Given the description of an element on the screen output the (x, y) to click on. 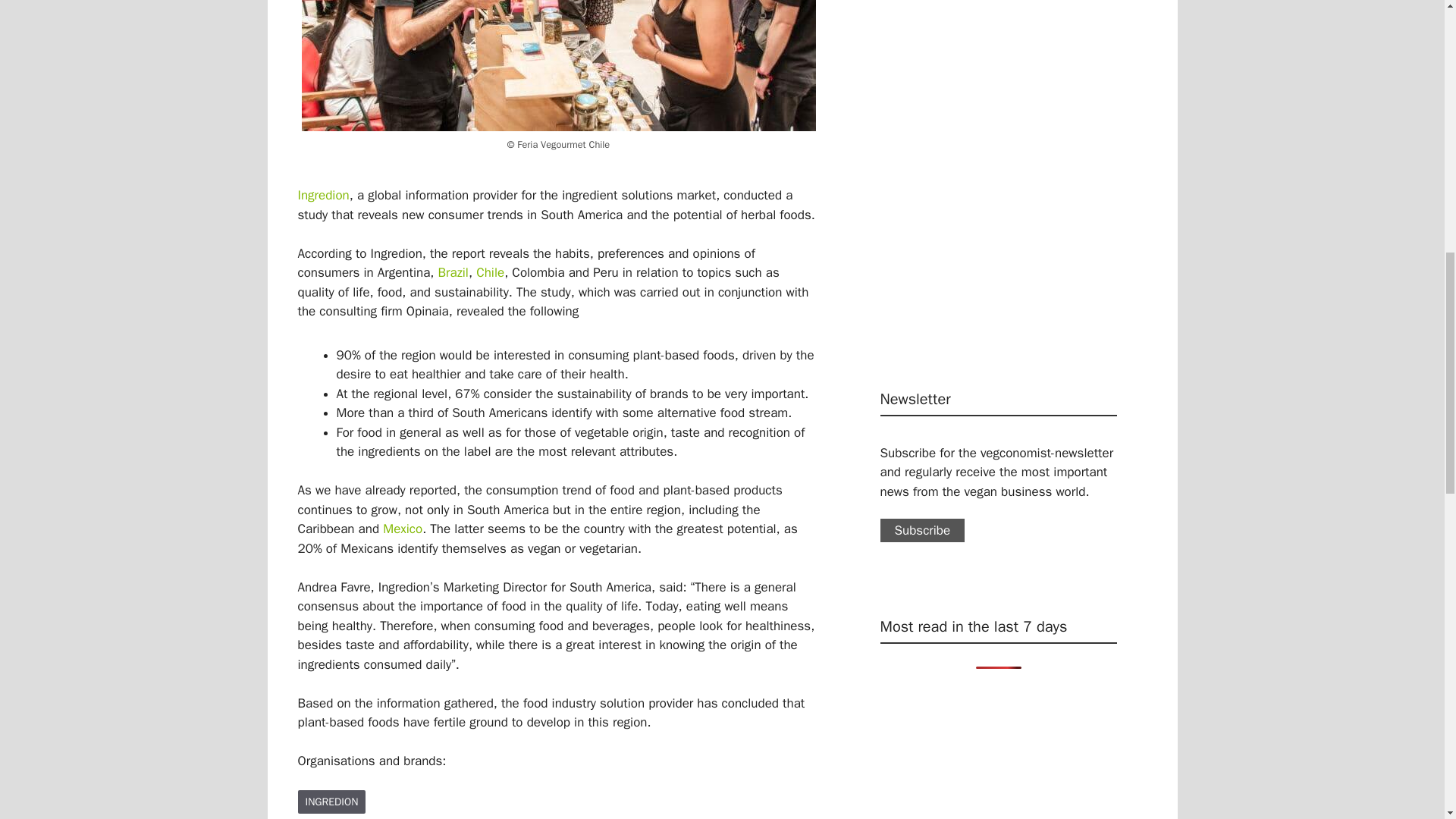
Ingredion (331, 802)
